Given the description of an element on the screen output the (x, y) to click on. 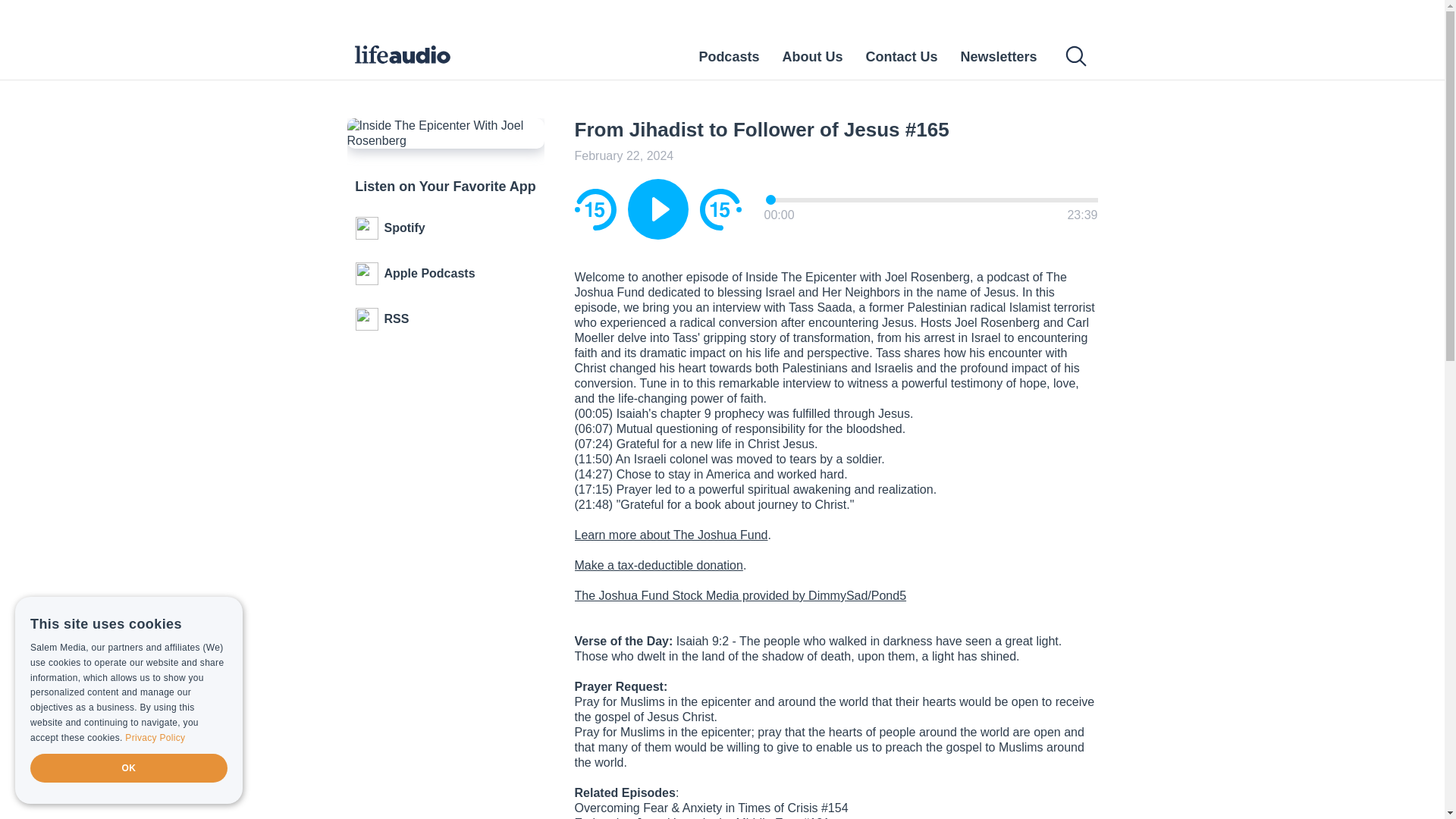
RSS (445, 319)
Inside The Epicenter With Joel Rosenberg (445, 132)
Contact Us (900, 56)
Learn more about The Joshua Fund (671, 534)
0.01 (932, 199)
Apple Podcasts (445, 273)
About Us (812, 56)
RSS feed (445, 319)
Spotify (445, 228)
Make a tax-deductible donation (658, 564)
Podcasts (728, 56)
Newsletters (997, 56)
